Given the description of an element on the screen output the (x, y) to click on. 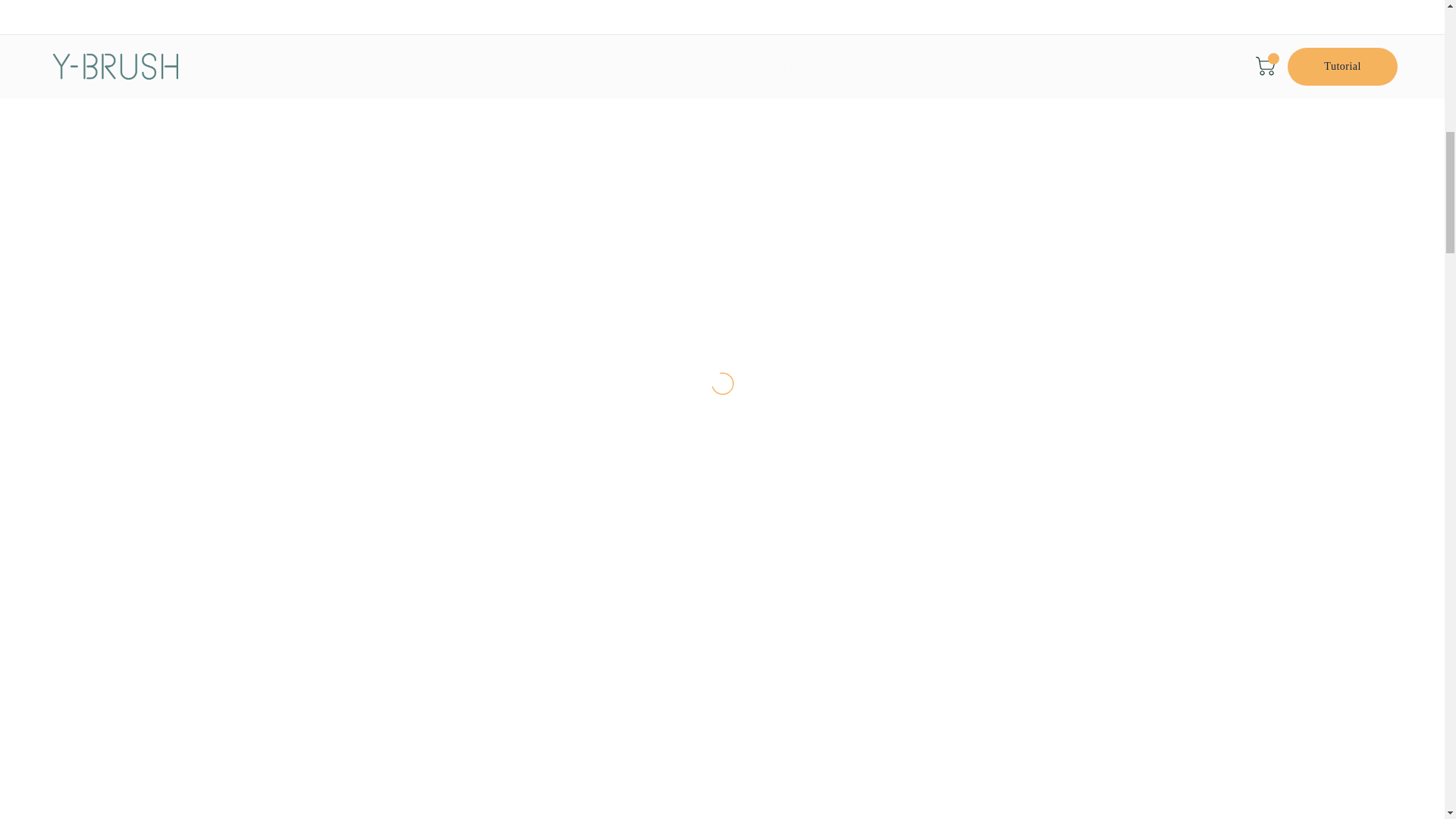
Join now (974, 196)
to have your teeth a little whiter (722, 491)
privacy policy (798, 231)
